Given the description of an element on the screen output the (x, y) to click on. 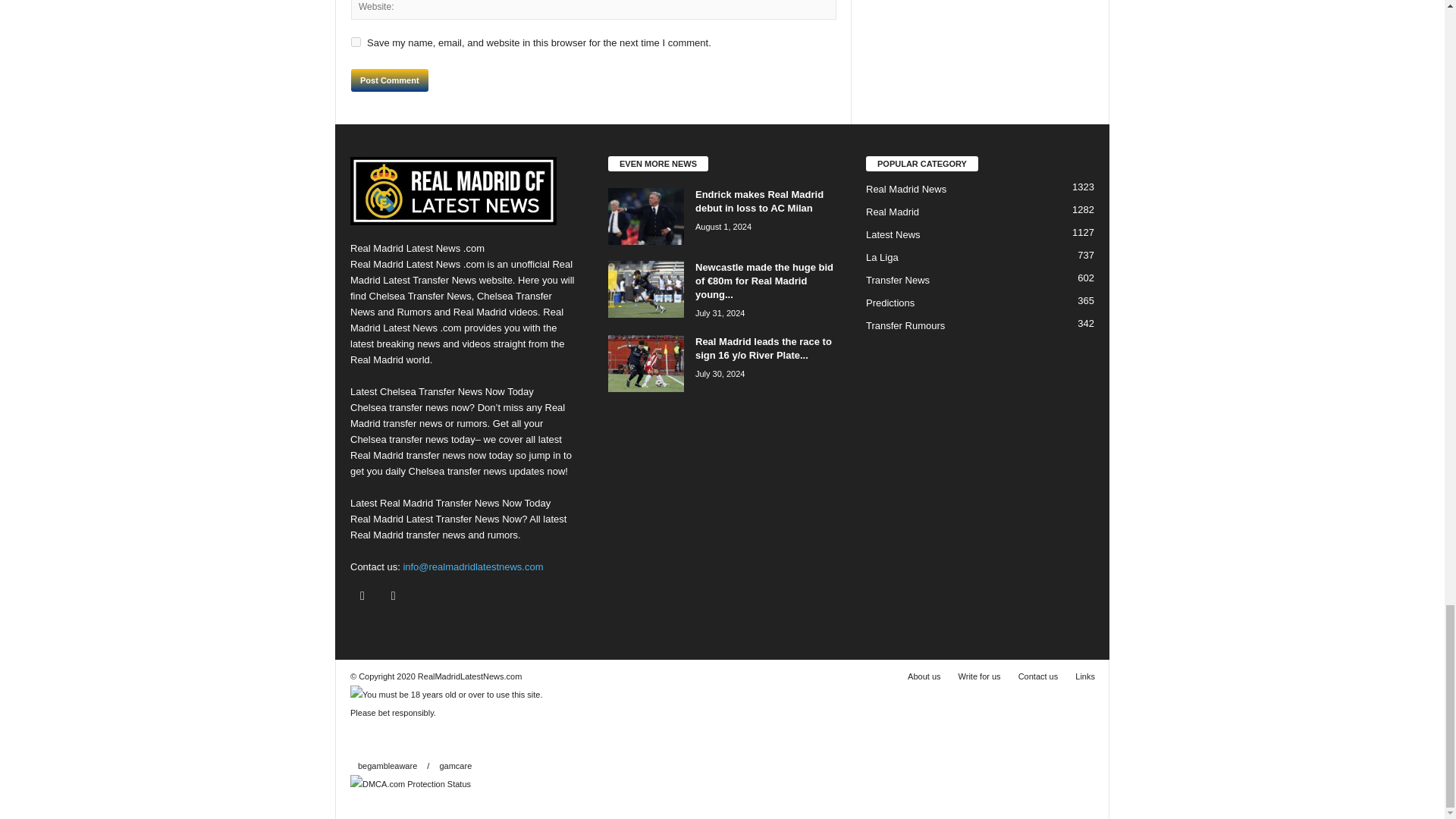
yes (355, 41)
Post Comment (389, 79)
